Given the description of an element on the screen output the (x, y) to click on. 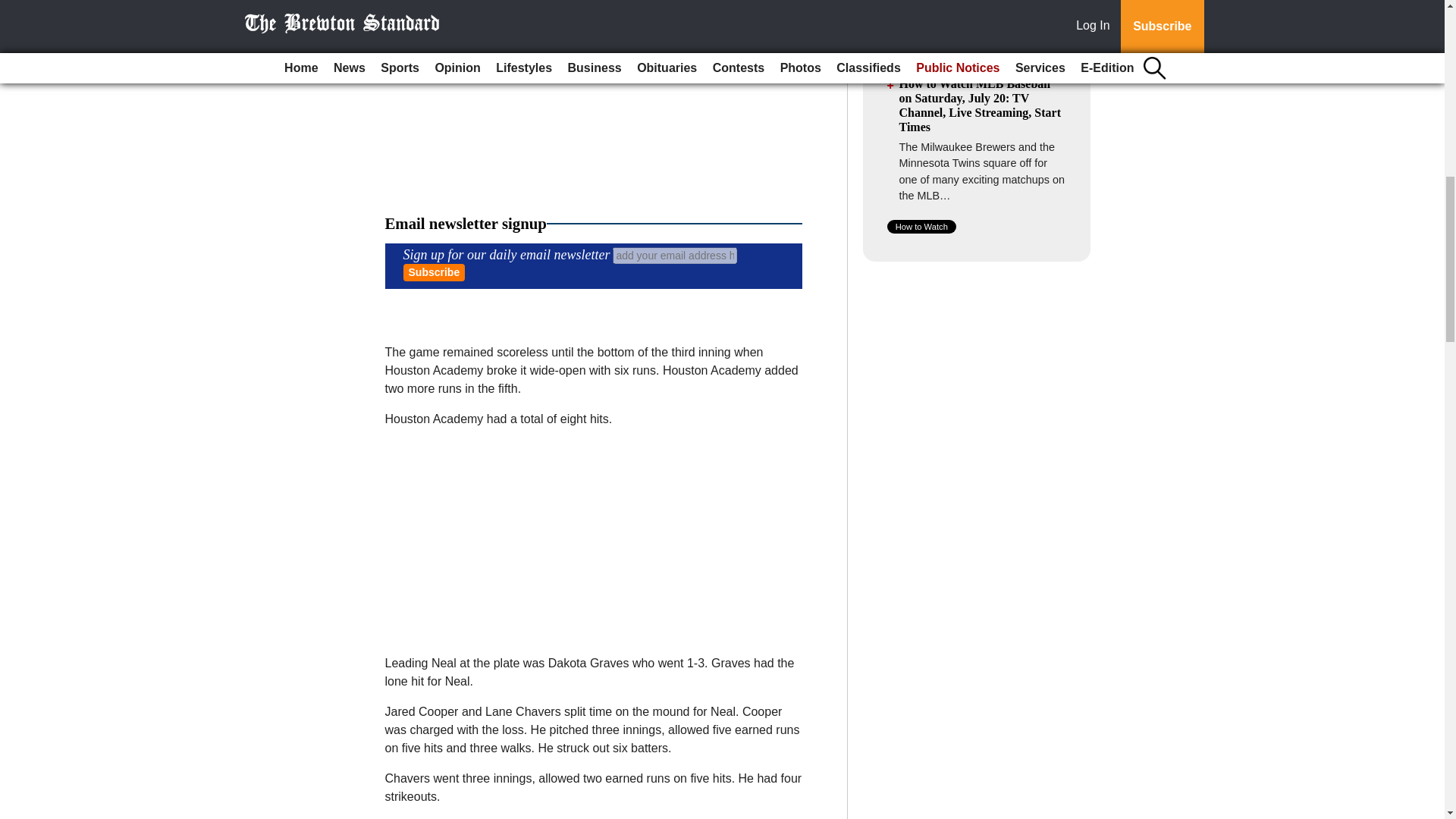
Subscribe (434, 272)
Subscribe (434, 272)
